Given the description of an element on the screen output the (x, y) to click on. 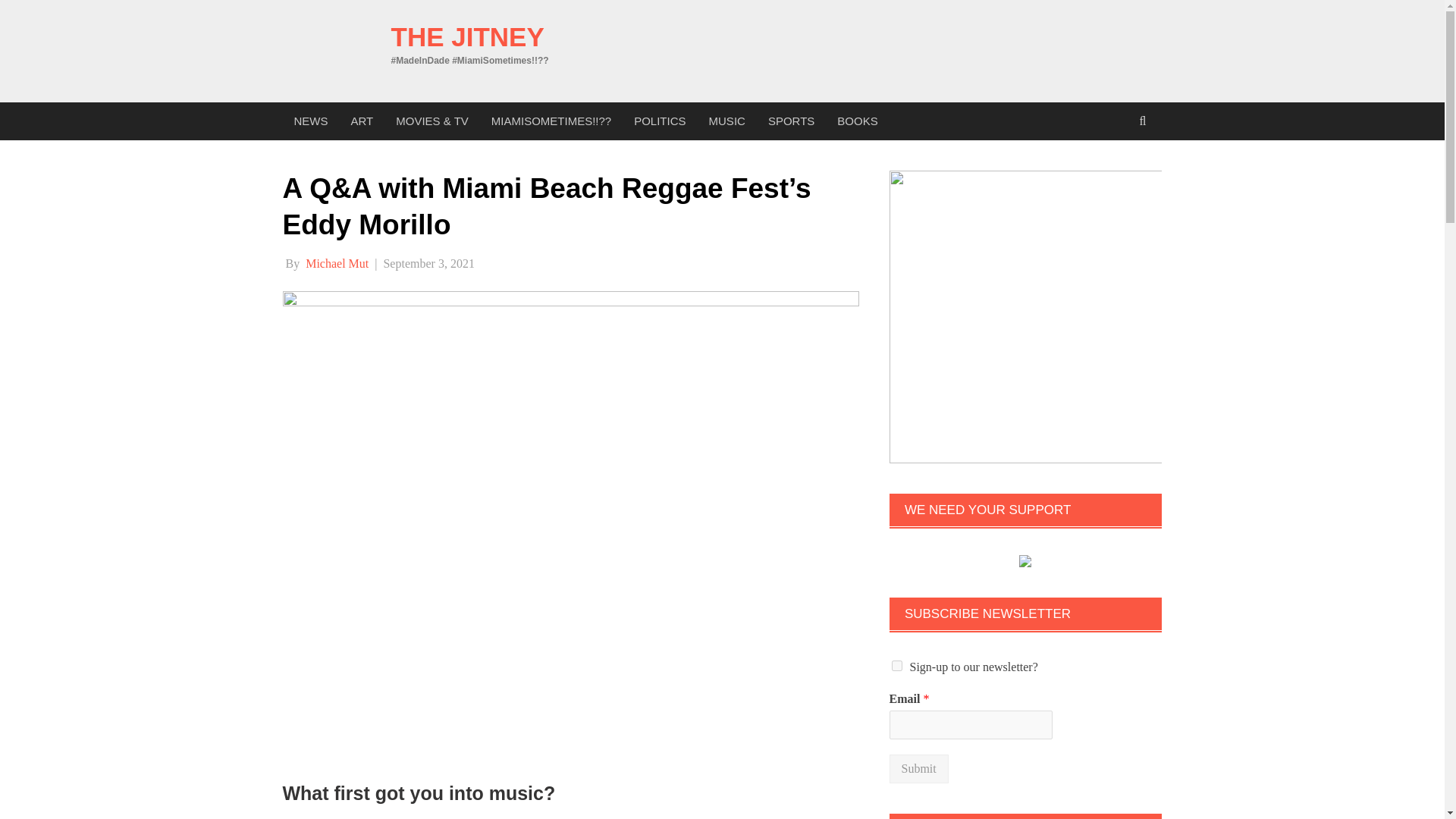
Submit (917, 768)
THE JITNEY (467, 36)
SPORTS (791, 121)
MUSIC (727, 121)
BOOKS (856, 121)
ART (362, 121)
POLITICS (660, 121)
Michael Mut (336, 263)
NEWS (310, 121)
MIAMISOMETIMES!!?? (551, 121)
1 (896, 665)
